Given the description of an element on the screen output the (x, y) to click on. 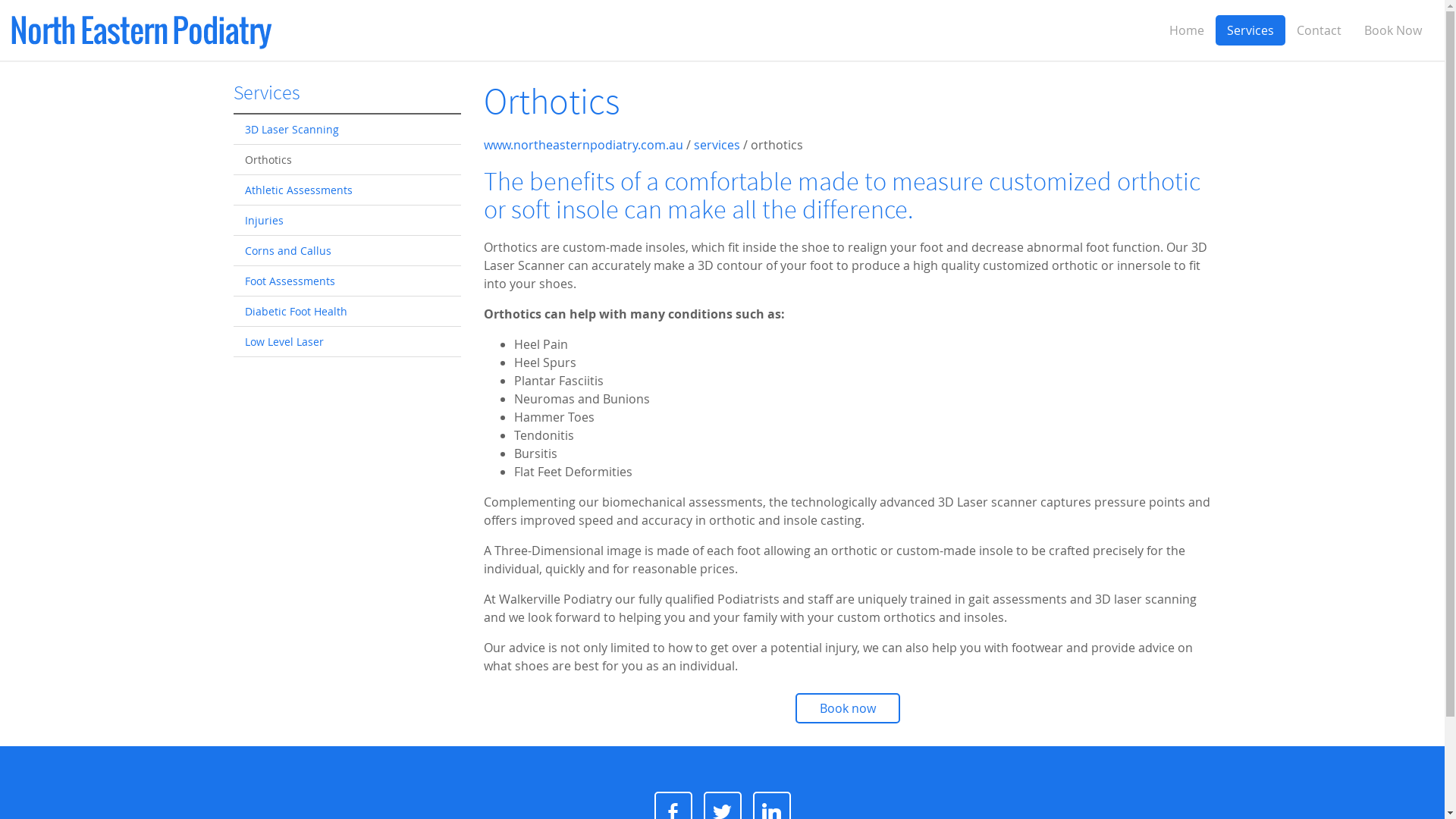
Services Element type: text (1250, 30)
services Element type: text (716, 144)
Contact Element type: text (1318, 30)
Foot Assessments Element type: text (347, 281)
Athletic Assessments Element type: text (347, 190)
Book Now Element type: text (1392, 30)
Diabetic Foot Health Element type: text (347, 311)
Orthotics Element type: text (347, 159)
Book now Element type: text (846, 708)
Services Element type: text (266, 93)
3D Laser Scanning Element type: text (347, 129)
www.northeasternpodiatry.com.au Element type: text (583, 144)
Low Level Laser Element type: text (347, 341)
Corns and Callus Element type: text (347, 250)
Injuries Element type: text (347, 220)
Home Element type: text (1186, 30)
